Given the description of an element on the screen output the (x, y) to click on. 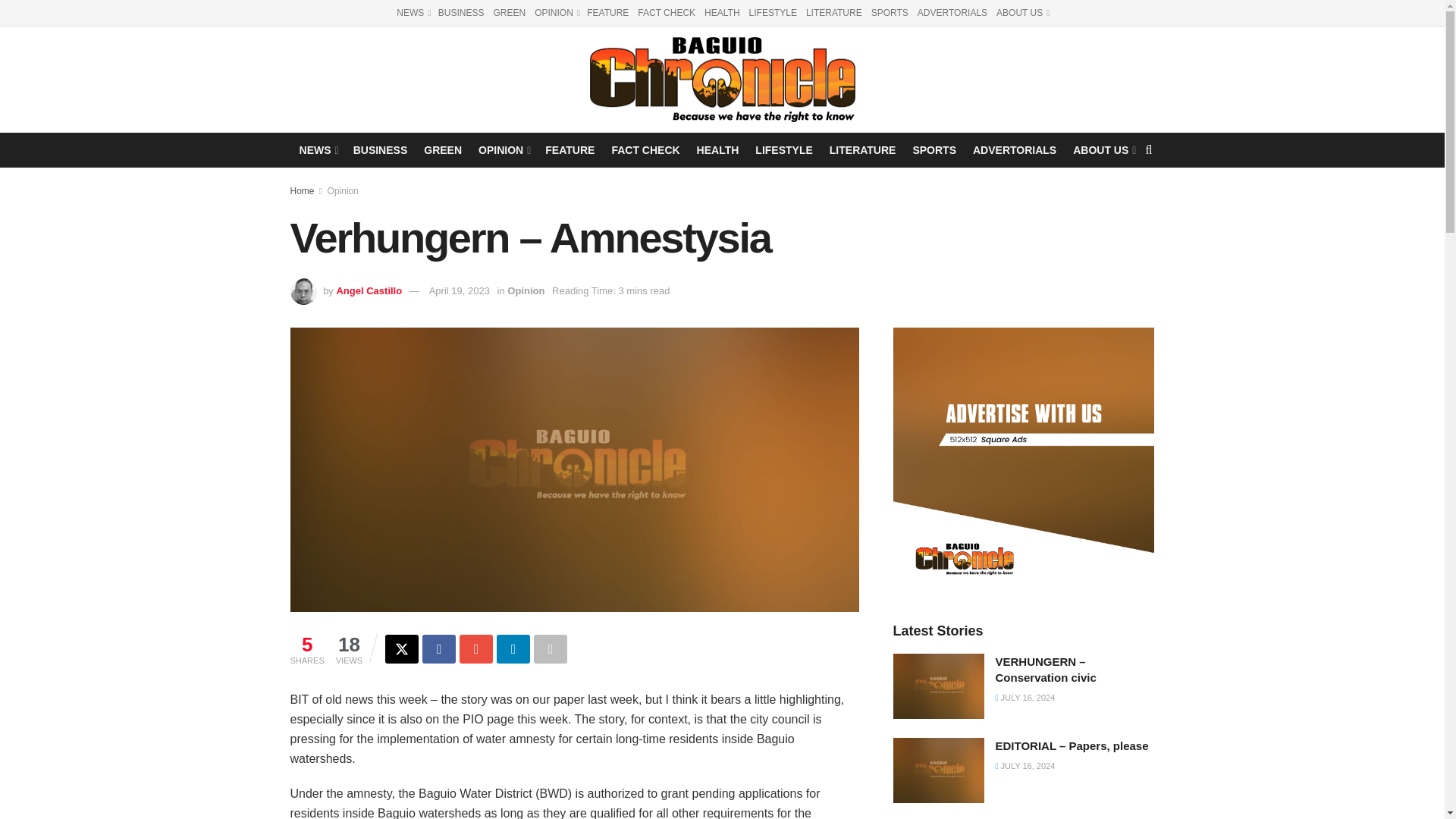
HEALTH (721, 12)
HEALTH (718, 149)
BUSINESS (461, 12)
GREEN (442, 149)
ADVERTORIALS (1014, 149)
LITERATURE (862, 149)
GREEN (509, 12)
FEATURE (569, 149)
LIFESTYLE (772, 12)
ABOUT US (1103, 149)
LITERATURE (833, 12)
SPORTS (934, 149)
OPINION (503, 149)
NEWS (317, 149)
ABOUT US (1021, 12)
